Given the description of an element on the screen output the (x, y) to click on. 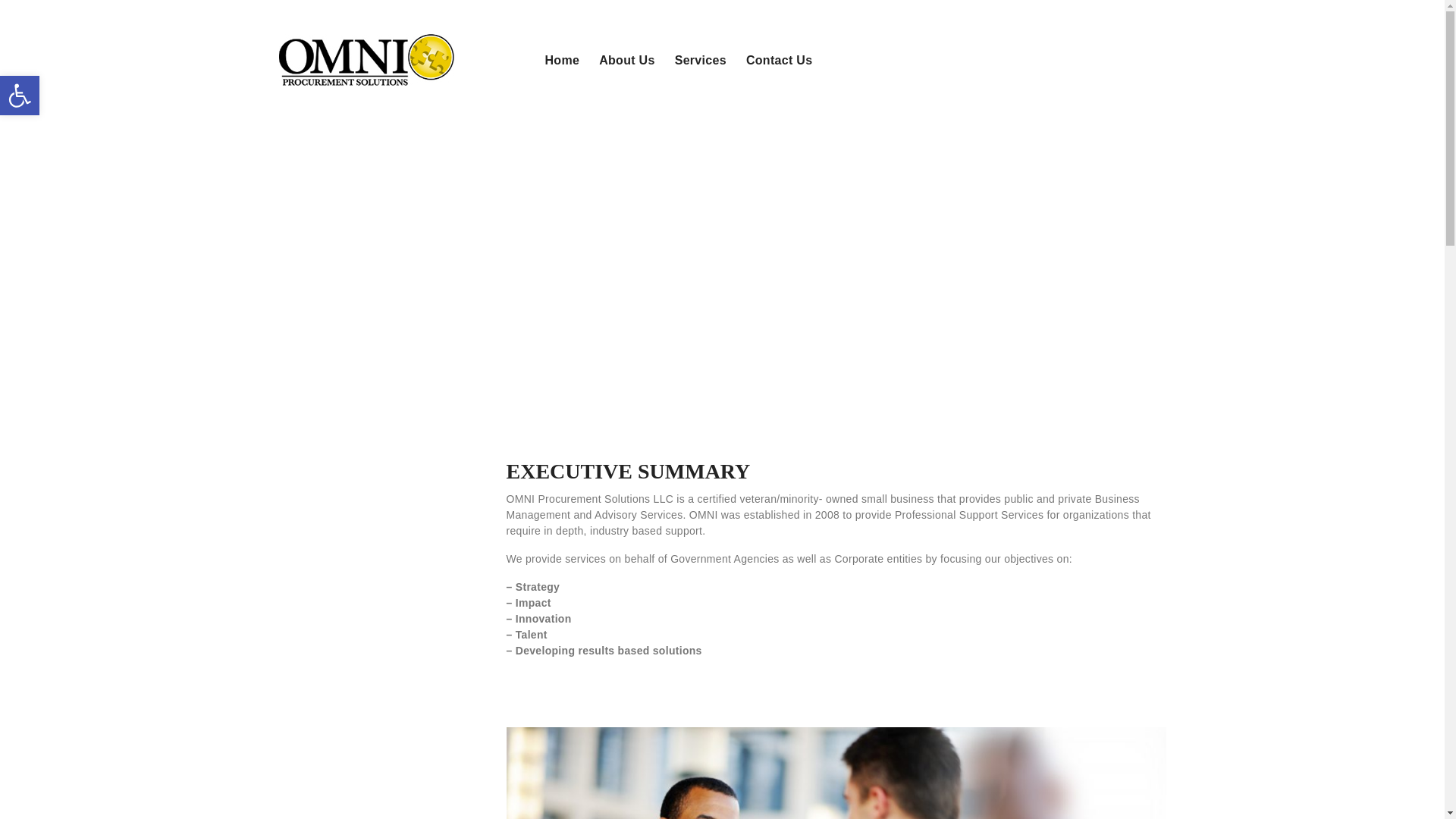
Contact Us (779, 60)
Accessibility Tools (19, 95)
Accessibility Tools (19, 95)
Home (19, 95)
About Us (566, 60)
Services (627, 60)
